Given the description of an element on the screen output the (x, y) to click on. 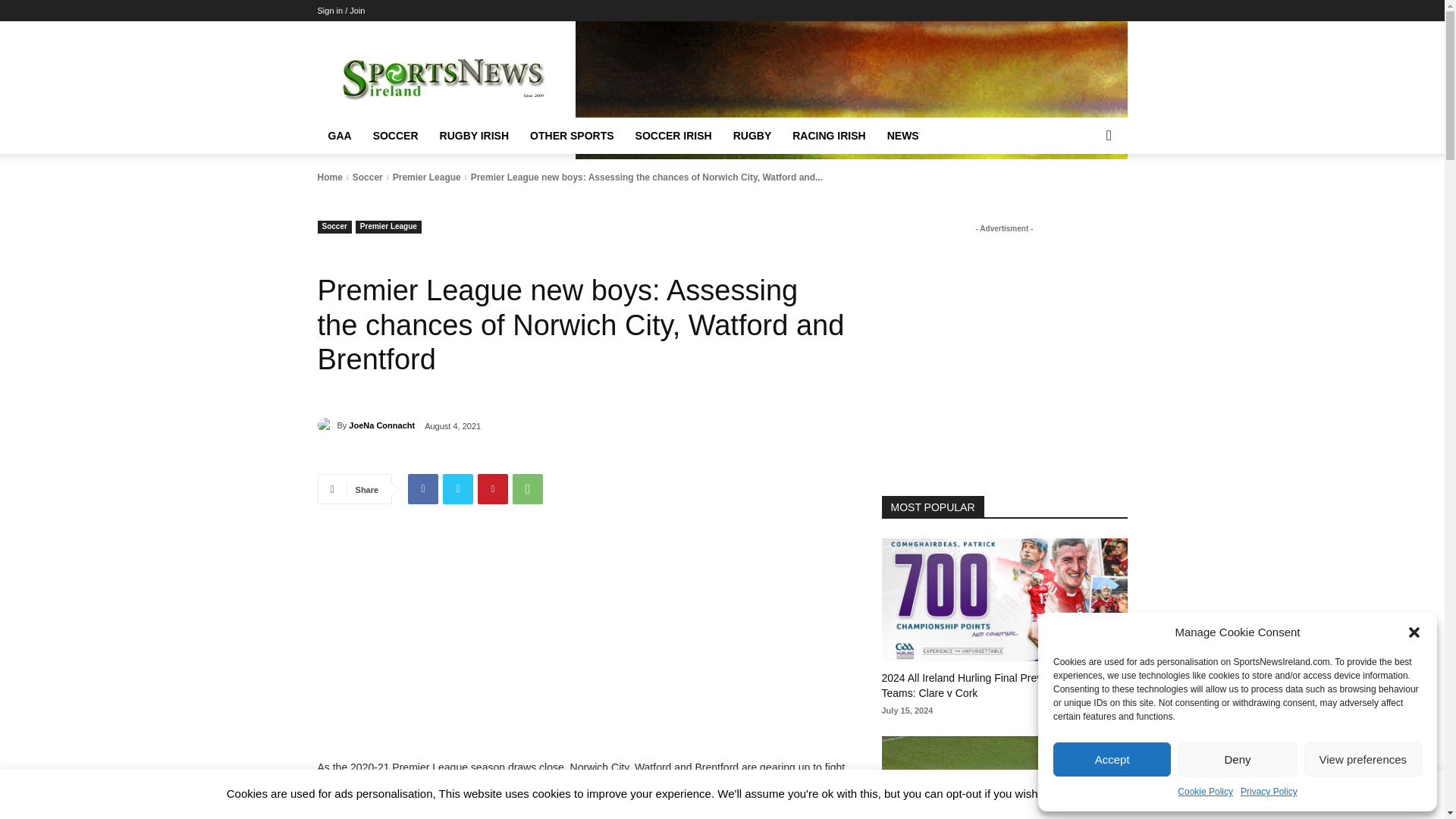
View preferences (1363, 759)
SOCCER (395, 135)
Privacy Policy (1268, 791)
Cookie Policy (1205, 791)
Twitter (457, 489)
Facebook (422, 489)
View all posts in Soccer (367, 176)
RUGBY IRISH (474, 135)
Pinterest (492, 489)
Advertisement (580, 652)
GAA (339, 135)
WhatsApp (527, 489)
